Given the description of an element on the screen output the (x, y) to click on. 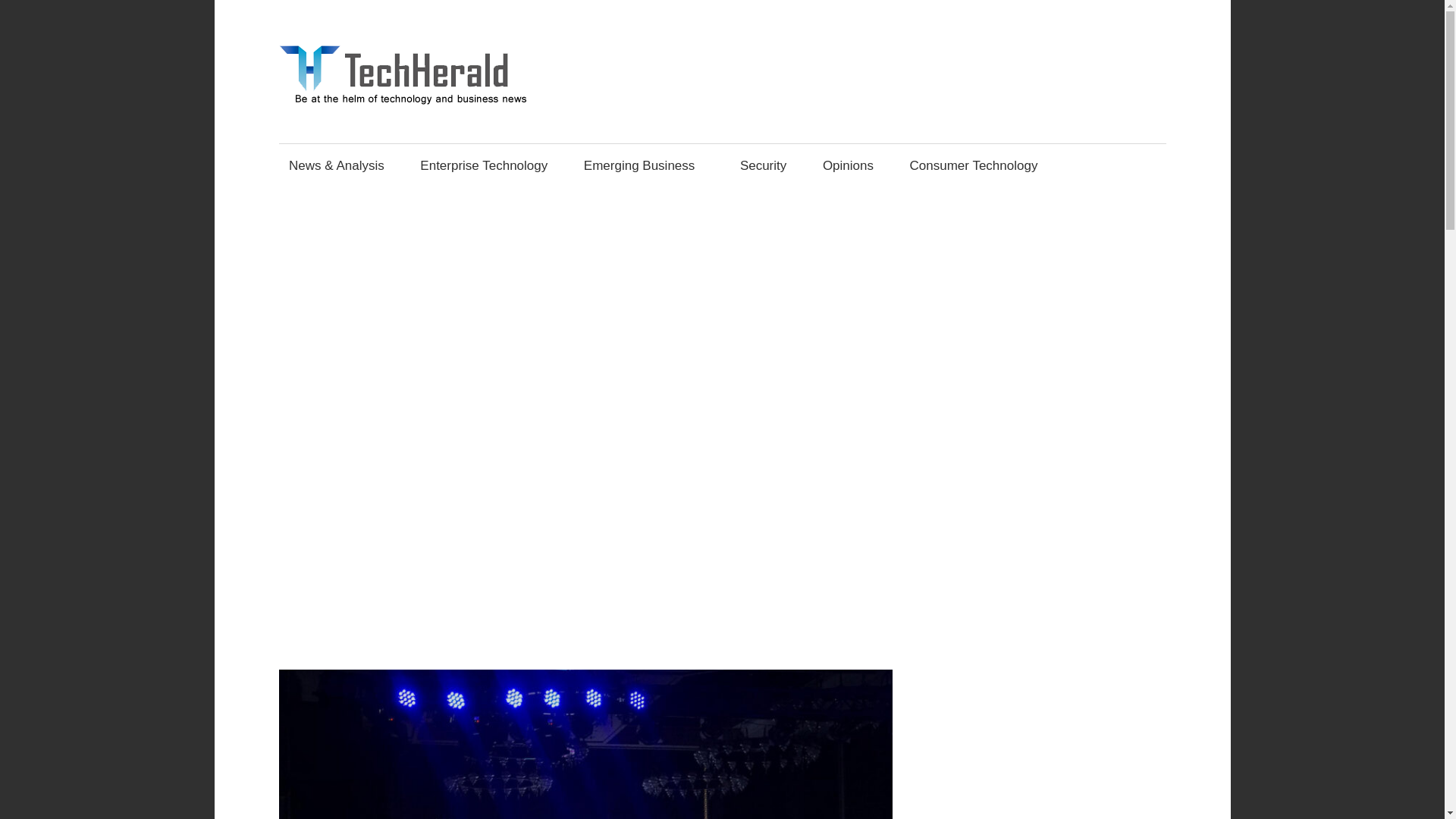
Emerging Business (643, 164)
Opinions (847, 164)
Consumer Technology (973, 164)
Security (762, 164)
Enterprise Technology (483, 164)
